Given the description of an element on the screen output the (x, y) to click on. 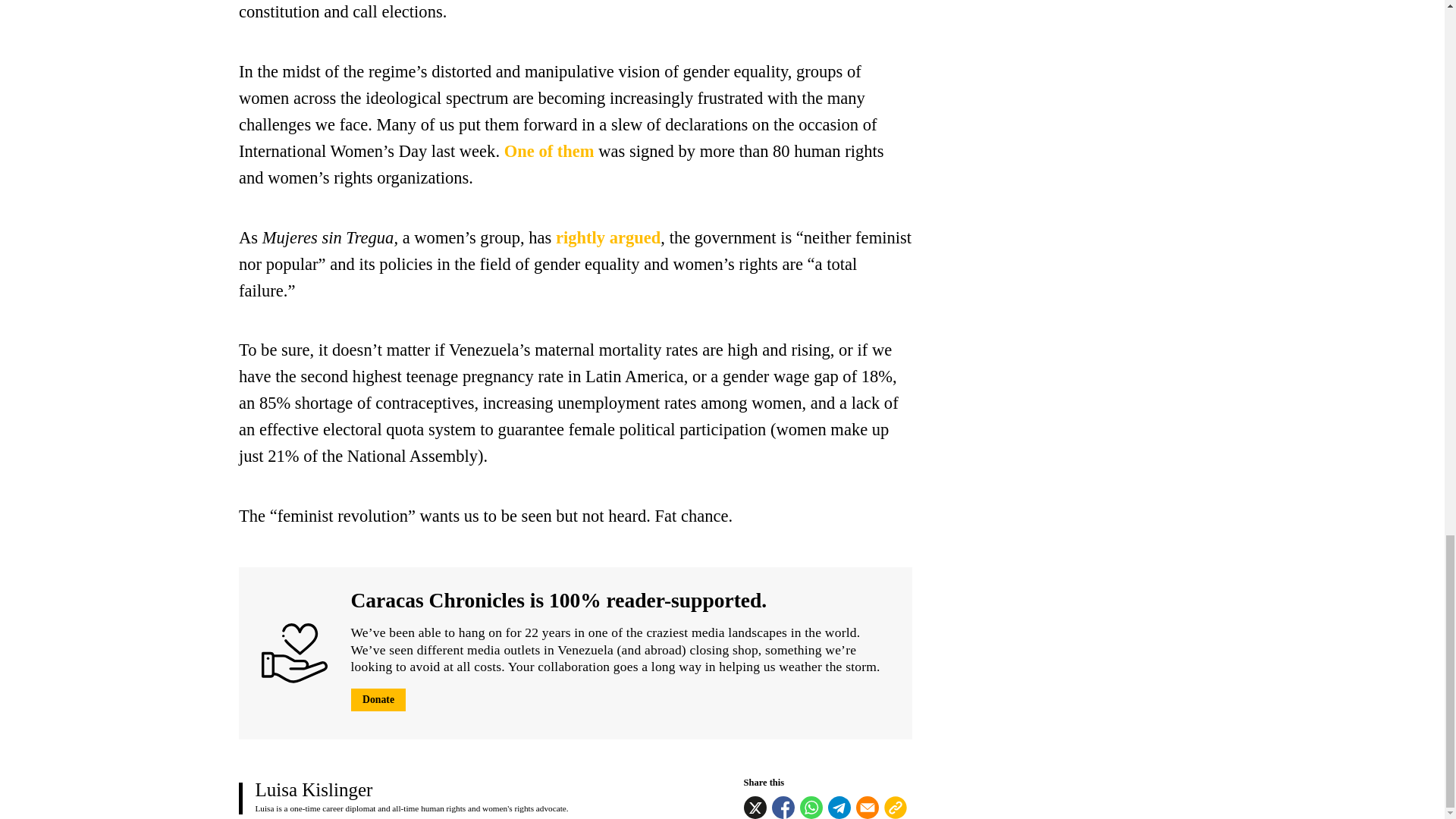
One of them (546, 150)
rightly argued (608, 237)
